Given the description of an element on the screen output the (x, y) to click on. 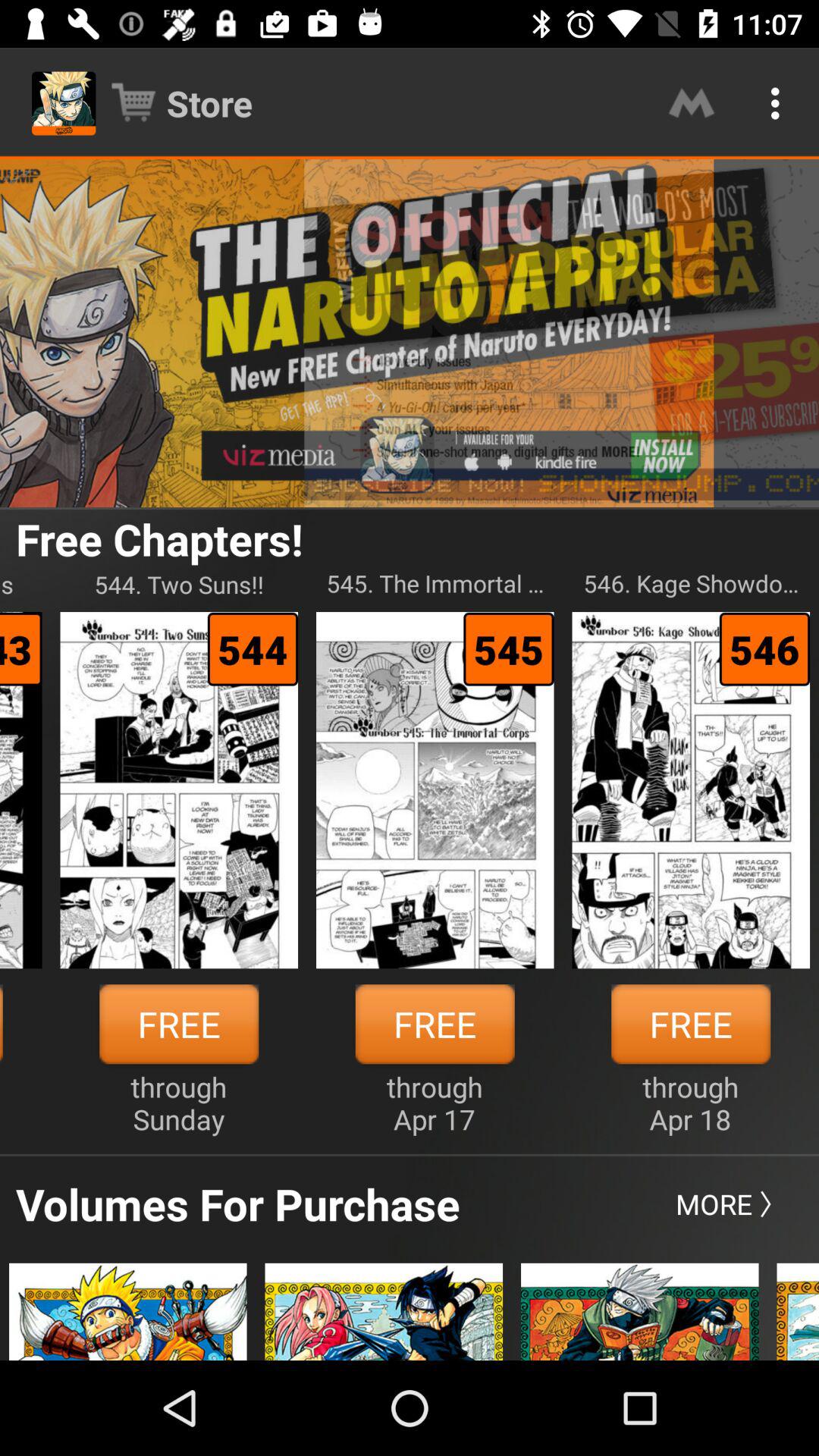
scroll until the through
sunday item (178, 1103)
